Given the description of an element on the screen output the (x, y) to click on. 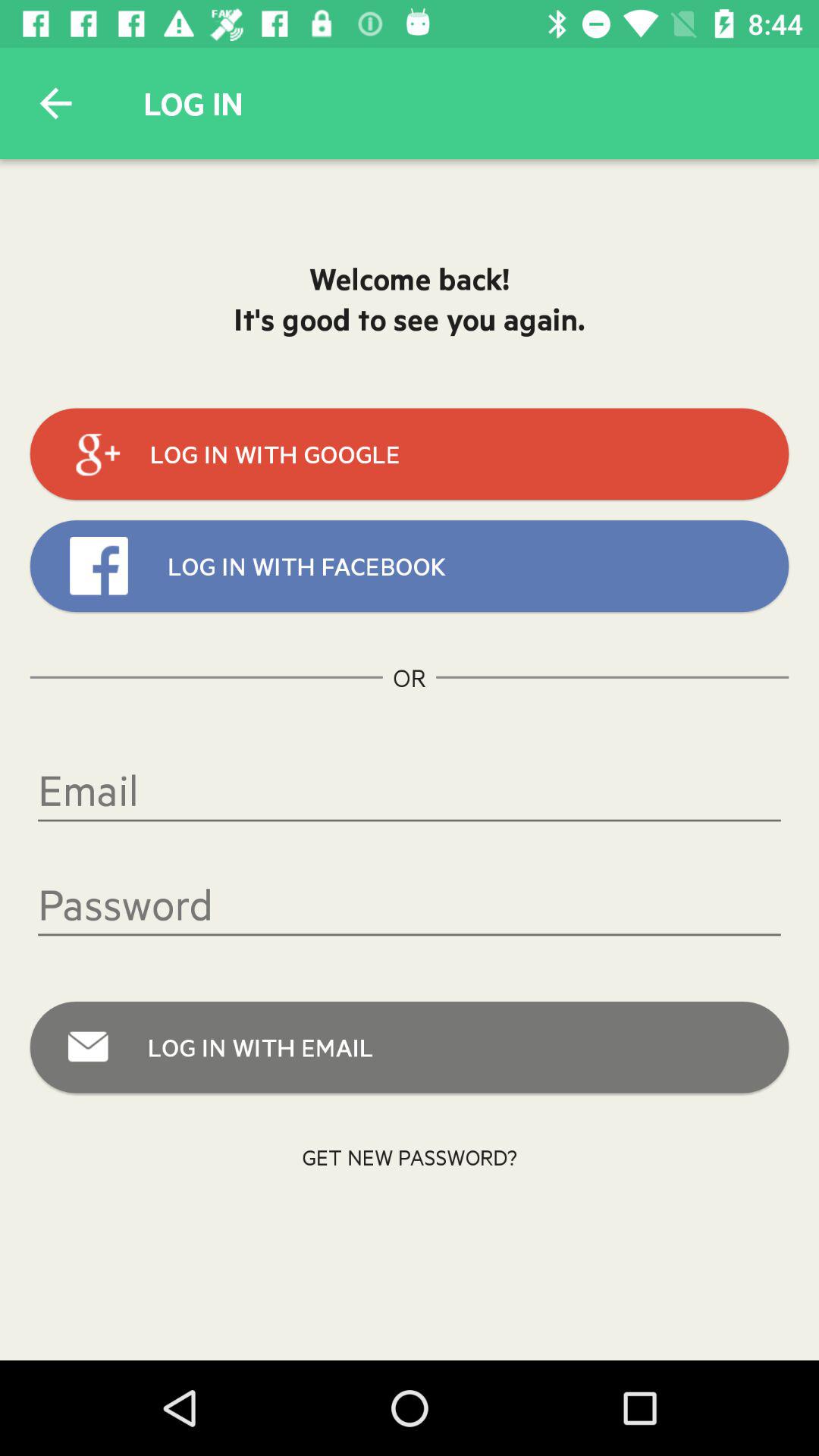
click the icon below log in with item (409, 1156)
